Given the description of an element on the screen output the (x, y) to click on. 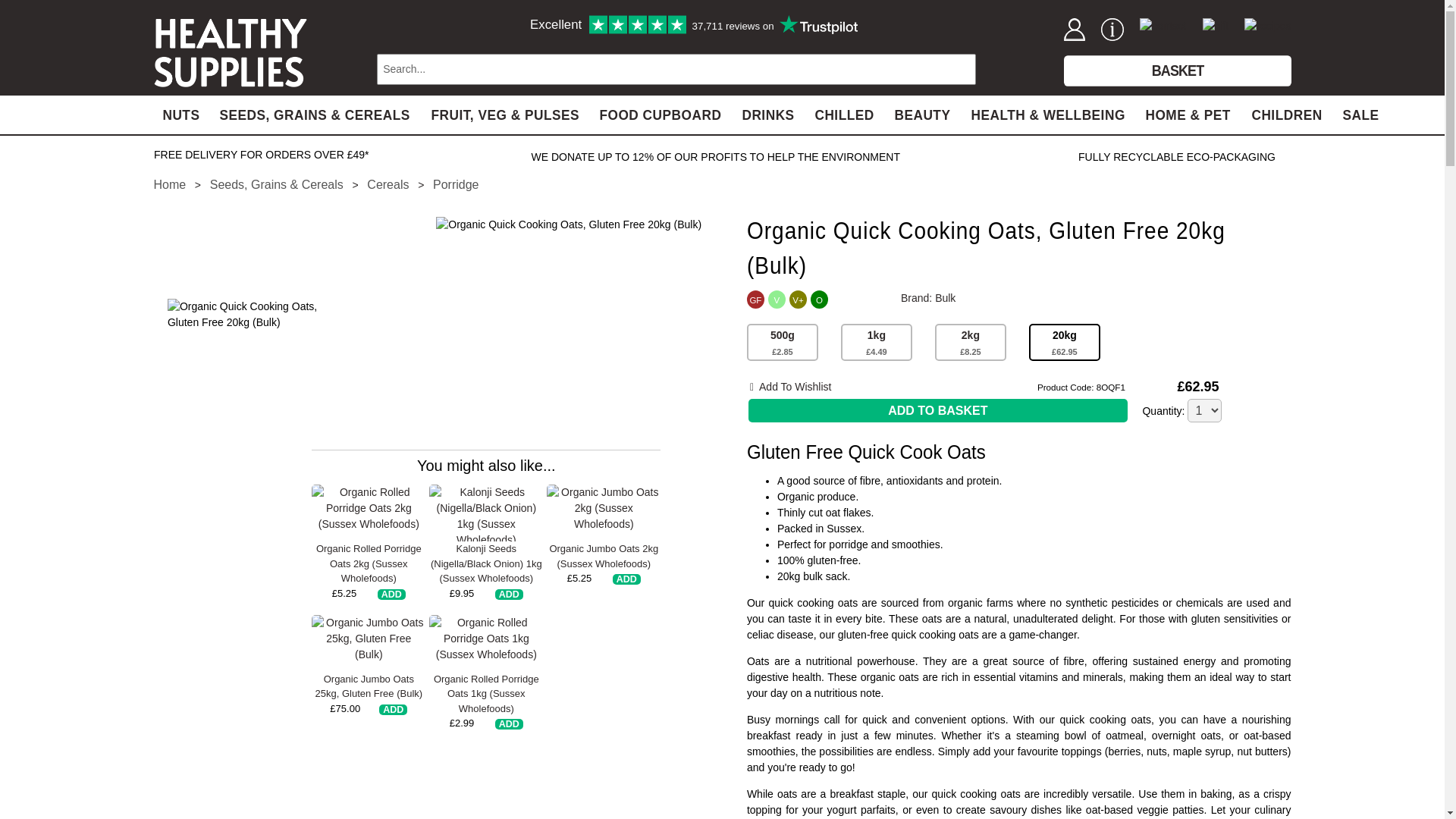
NUTS (180, 113)
Vegan (797, 299)
BASKET (1176, 69)
Gluten-Free (755, 299)
Vegetarian (777, 299)
Organic (819, 299)
